Given the description of an element on the screen output the (x, y) to click on. 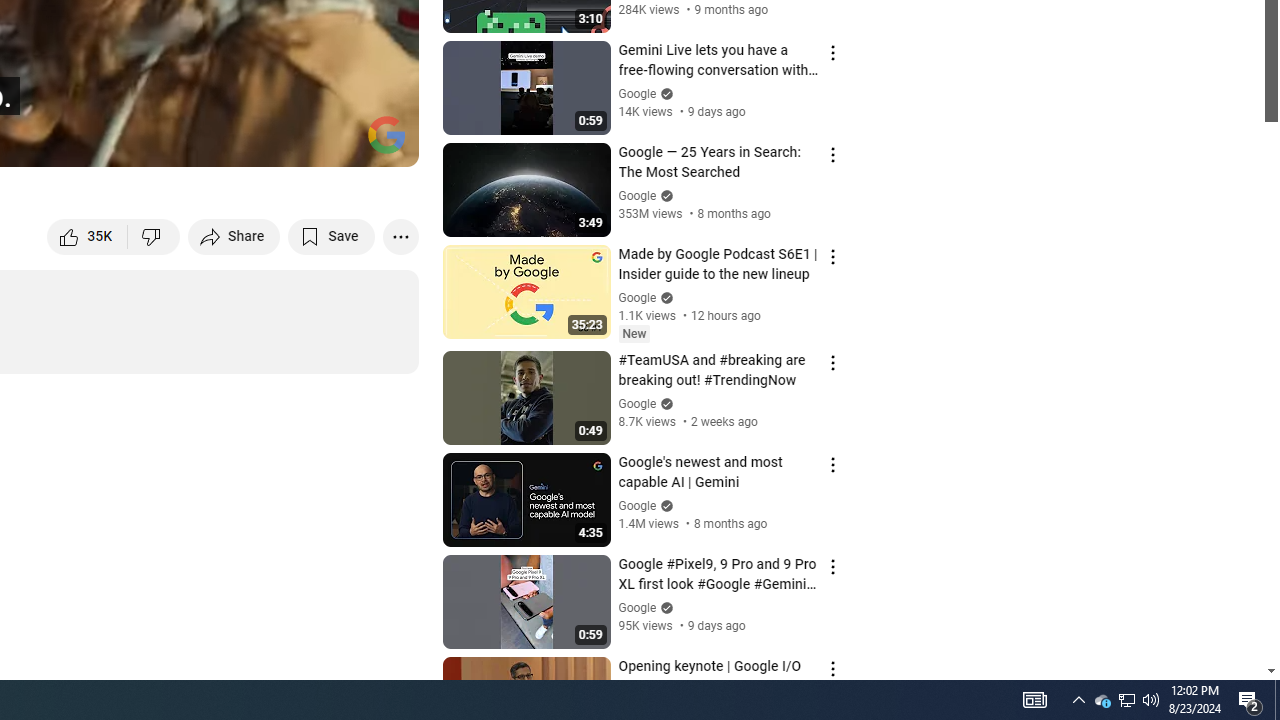
Channel watermark (386, 134)
Miniplayer (i) (286, 142)
Channel watermark (386, 134)
Autoplay is on (141, 142)
